Given the description of an element on the screen output the (x, y) to click on. 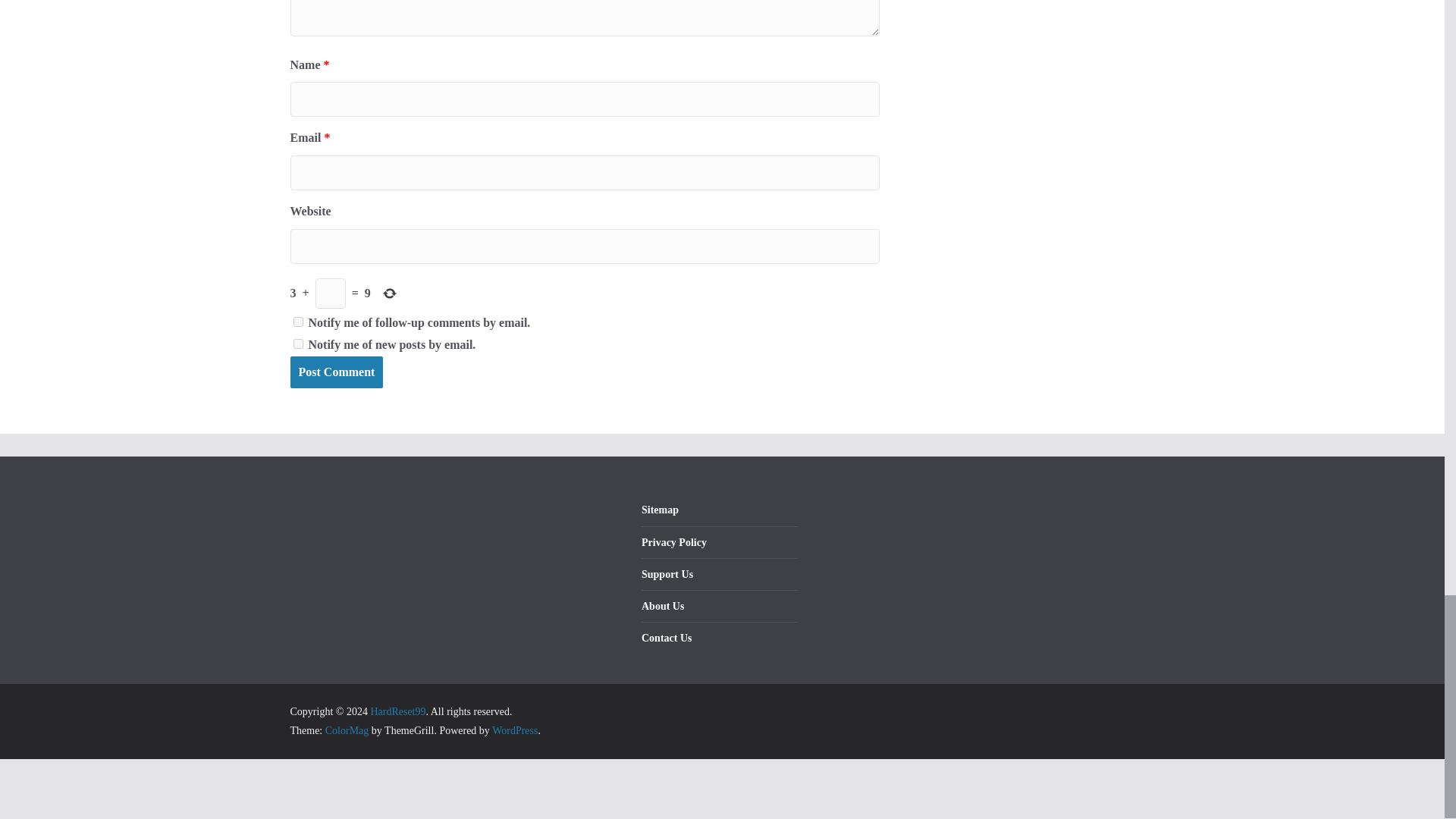
Post Comment (335, 372)
subscribe (297, 321)
subscribe (297, 343)
Post Comment (335, 372)
